Given the description of an element on the screen output the (x, y) to click on. 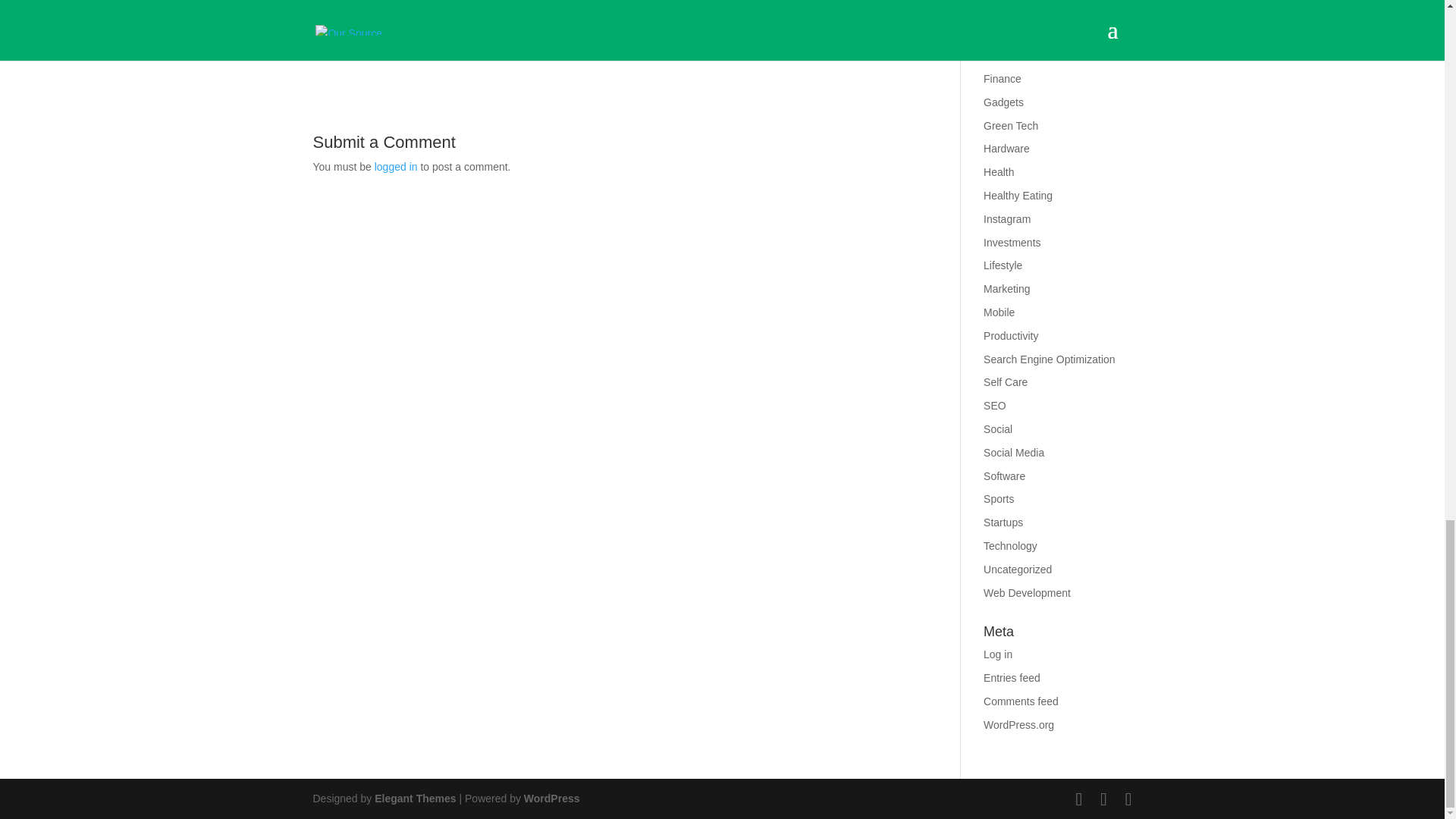
Premium WordPress Themes (414, 798)
View all posts (470, 9)
View all posts (470, 9)
logged in (395, 166)
